Given the description of an element on the screen output the (x, y) to click on. 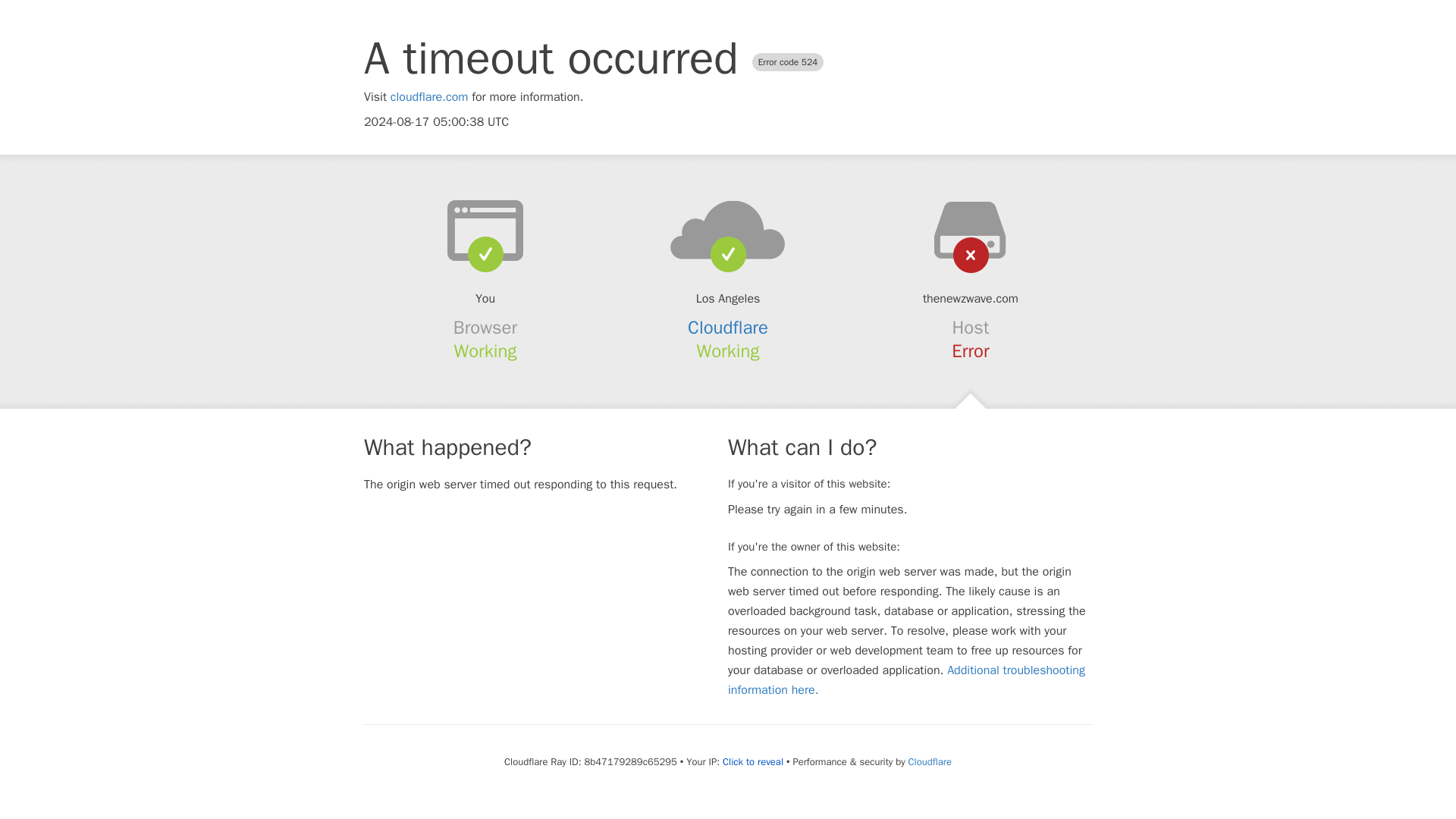
Click to reveal (752, 762)
Cloudflare (727, 327)
Additional troubleshooting information here. (906, 679)
Cloudflare (930, 761)
cloudflare.com (429, 96)
